Given the description of an element on the screen output the (x, y) to click on. 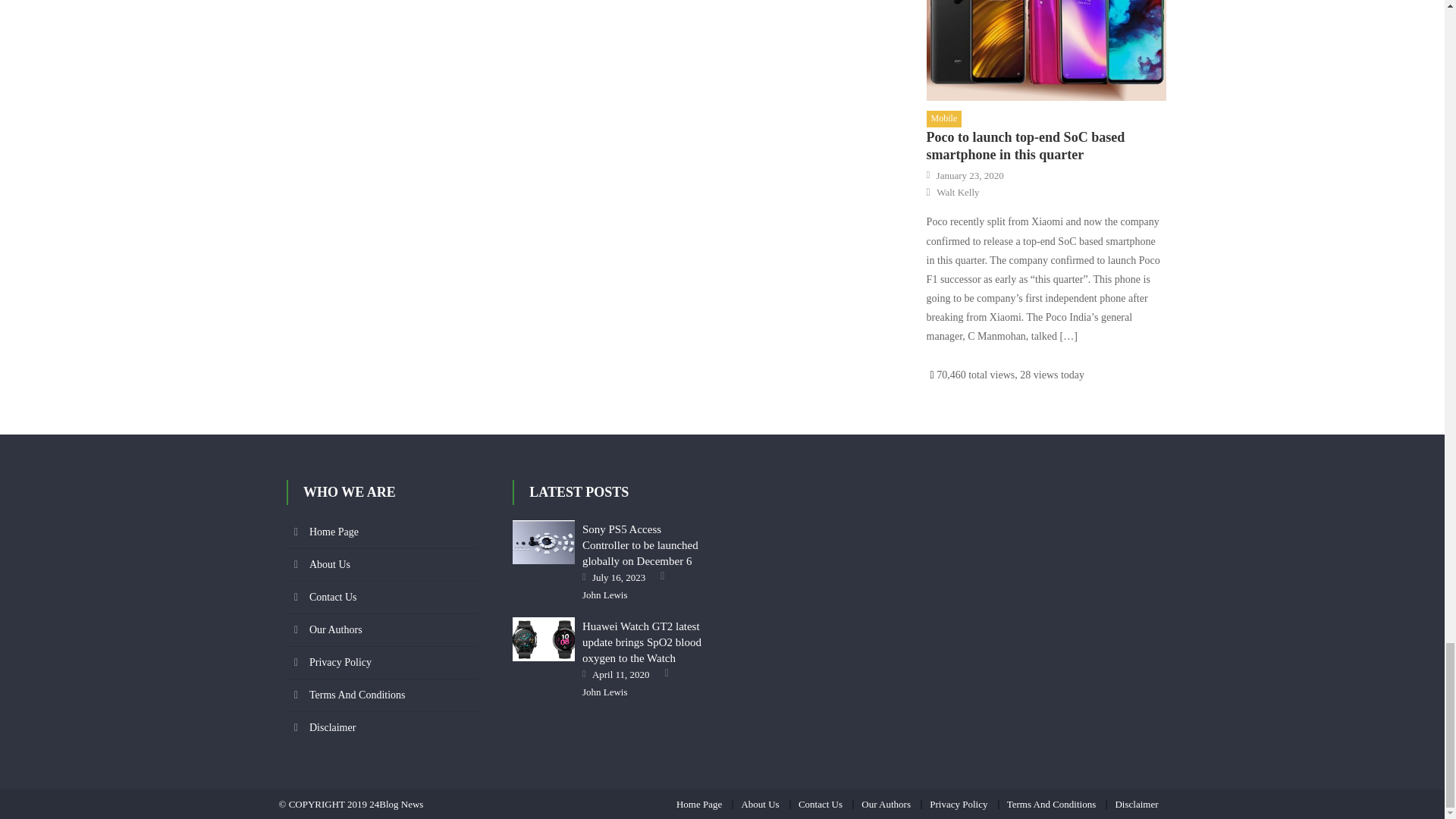
Poco to launch top-end SoC based smartphone in this quarter (1046, 50)
